Given the description of an element on the screen output the (x, y) to click on. 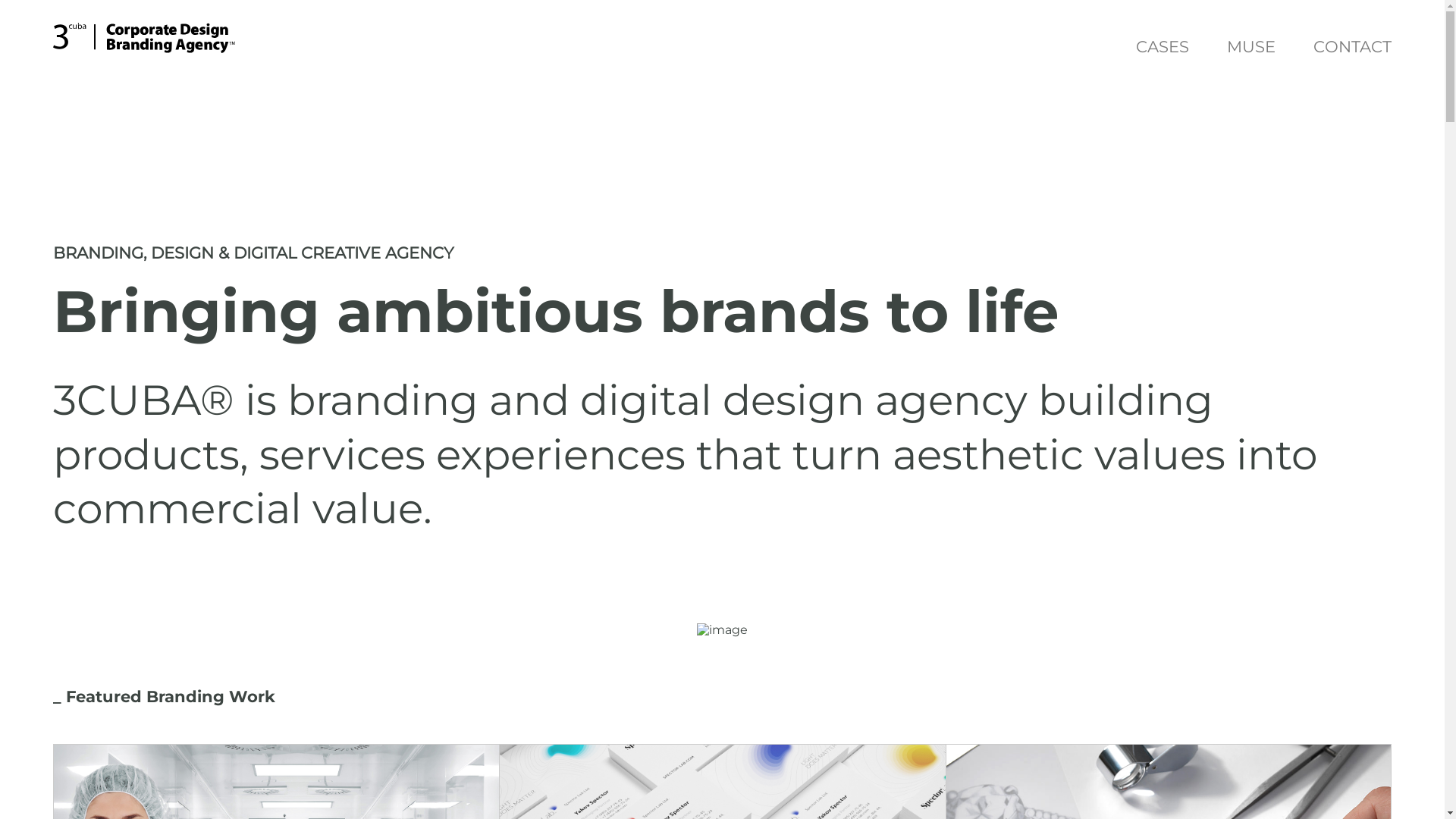
CONTACT Element type: text (1352, 48)
MUSE Element type: text (1250, 48)
CASES Element type: text (1162, 48)
